Given the description of an element on the screen output the (x, y) to click on. 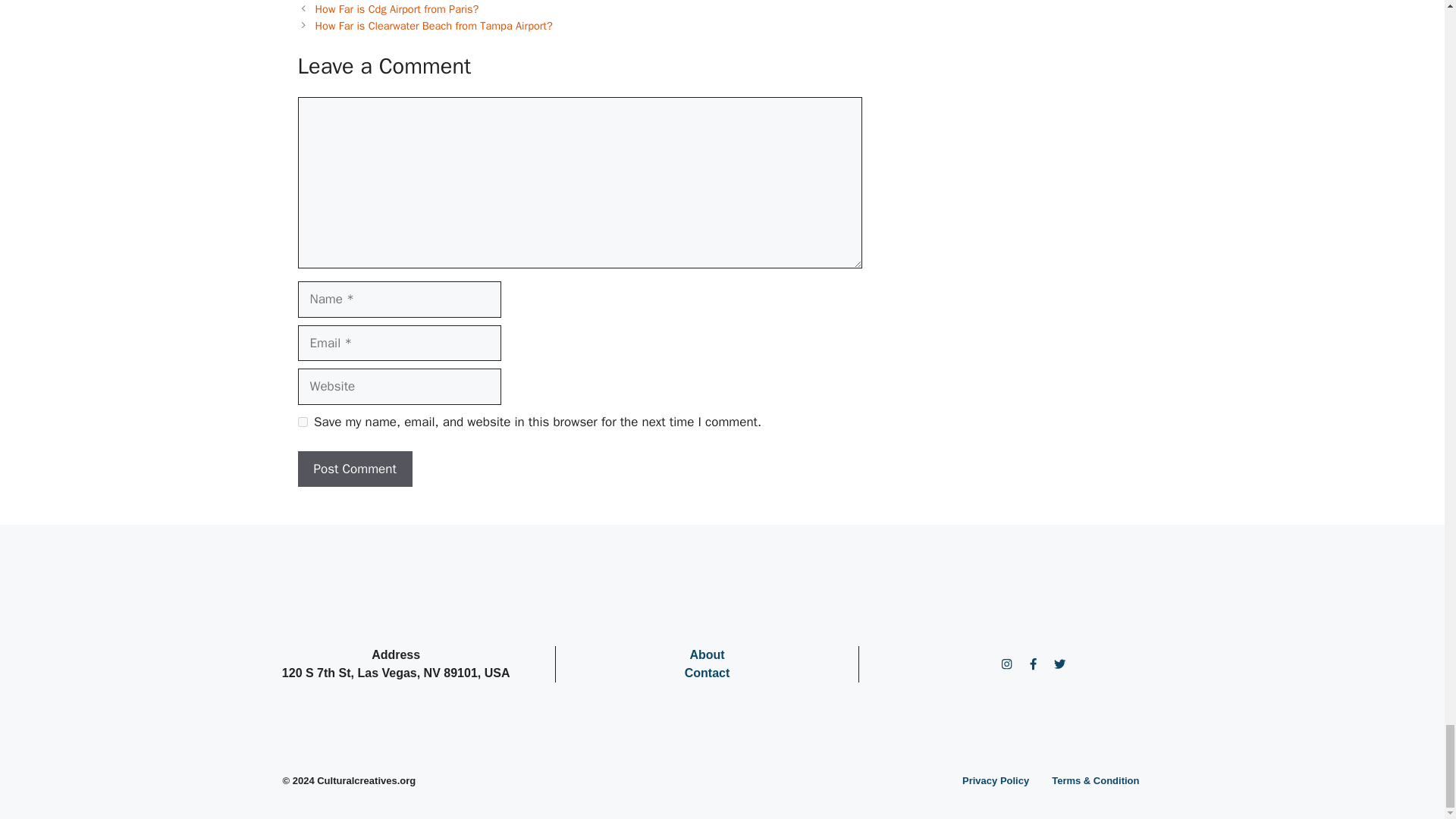
About (705, 654)
yes (302, 421)
Contact (707, 672)
Post Comment (354, 469)
Post Comment (354, 469)
How Far is Cdg Airport from Paris? (397, 8)
How Far is Clearwater Beach from Tampa Airport? (434, 25)
